Given the description of an element on the screen output the (x, y) to click on. 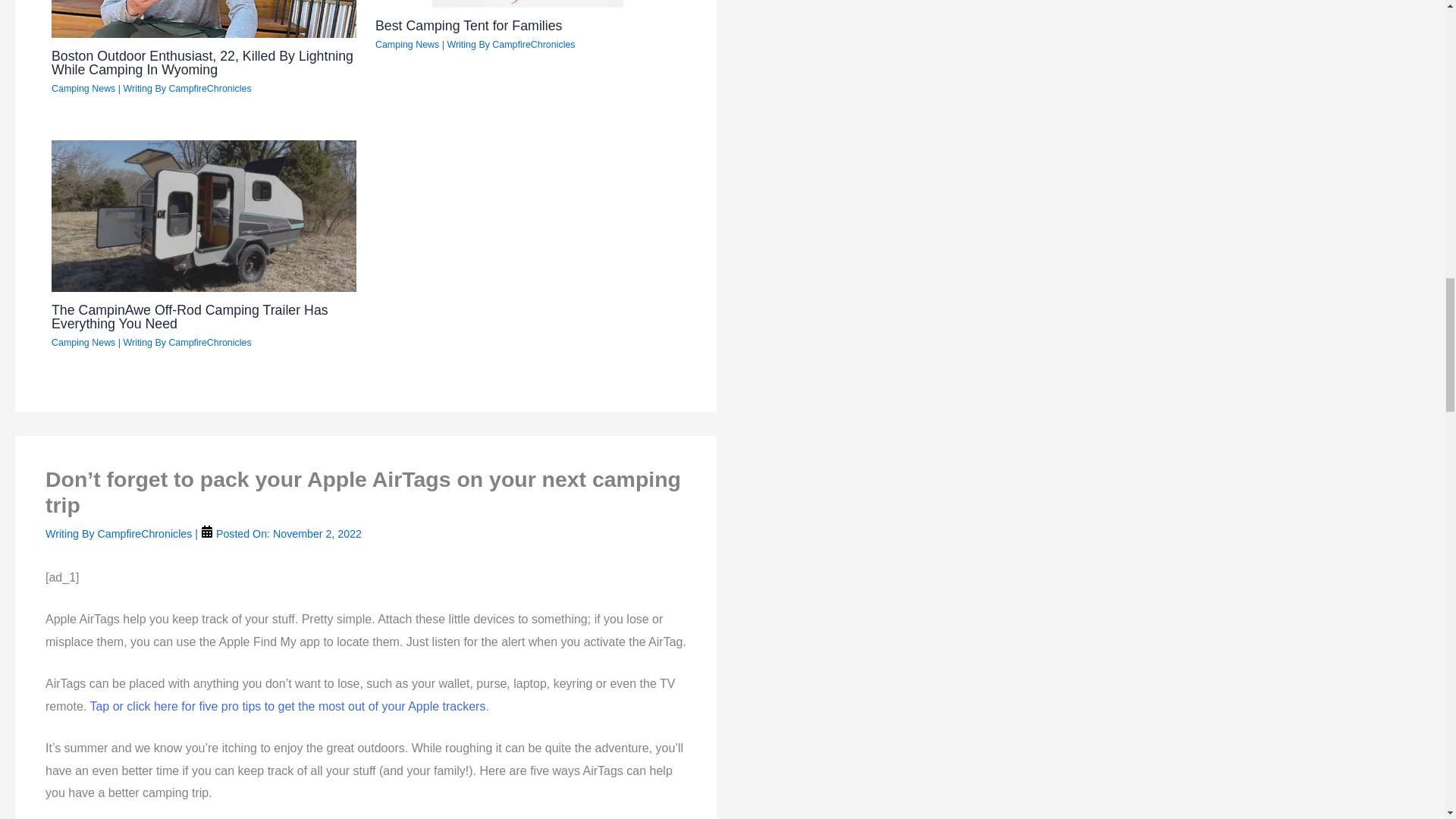
View all posts by CampfireChronicles (146, 533)
View all posts by CampfireChronicles (533, 44)
View all posts by CampfireChronicles (209, 88)
CampfireChronicles (209, 88)
View all posts by CampfireChronicles (209, 342)
Camping News (82, 88)
